Given the description of an element on the screen output the (x, y) to click on. 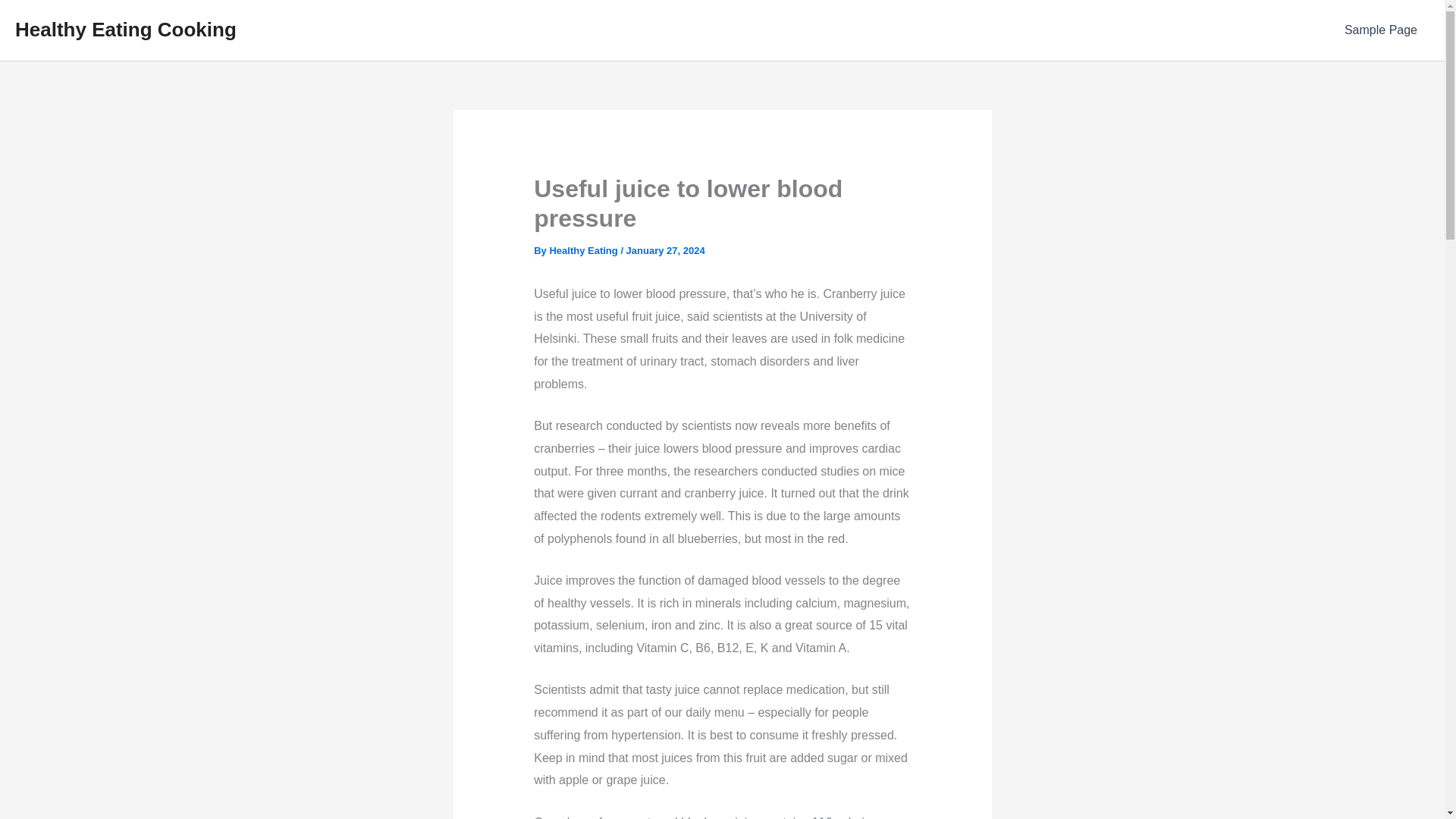
Sample Page (1380, 30)
Healthy Eating Cooking (124, 29)
View all posts by Healthy Eating (584, 250)
Healthy Eating (584, 250)
